Given the description of an element on the screen output the (x, y) to click on. 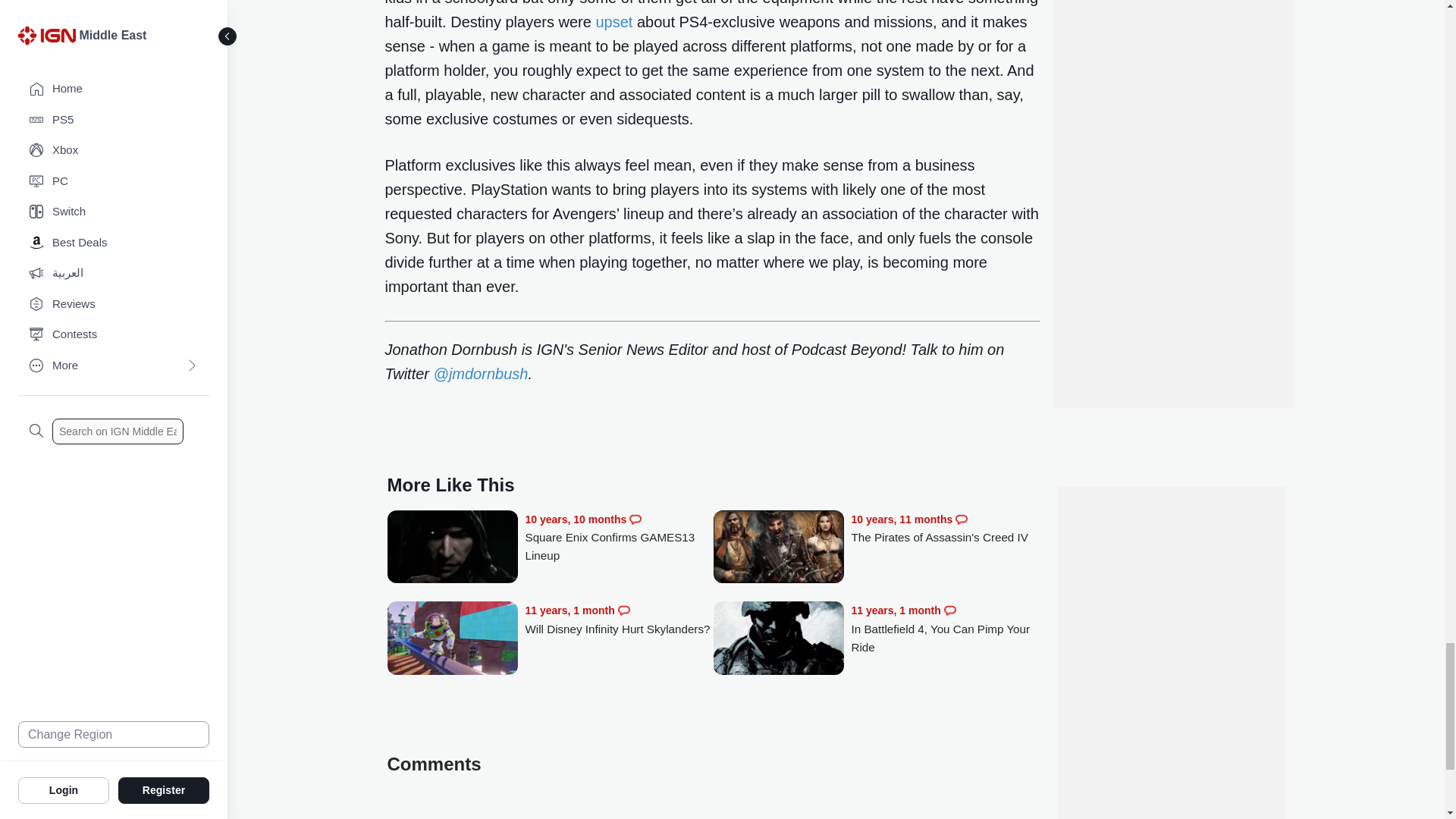
Will Disney Infinity Hurt Skylanders? (618, 619)
Will Disney Infinity Hurt Skylanders? (451, 639)
Comments (961, 519)
Comments (949, 610)
Comments (635, 519)
The Pirates of Assassin's Creed IV (944, 528)
Square Enix Confirms GAMES13 Lineup (618, 537)
In Battlefield 4, You Can Pimp Your Ride (944, 628)
Comments (623, 610)
In Battlefield 4, You Can Pimp Your Ride (778, 639)
Square Enix Confirms GAMES13 Lineup (451, 548)
The Pirates of Assassin's Creed IV (778, 548)
